Given the description of an element on the screen output the (x, y) to click on. 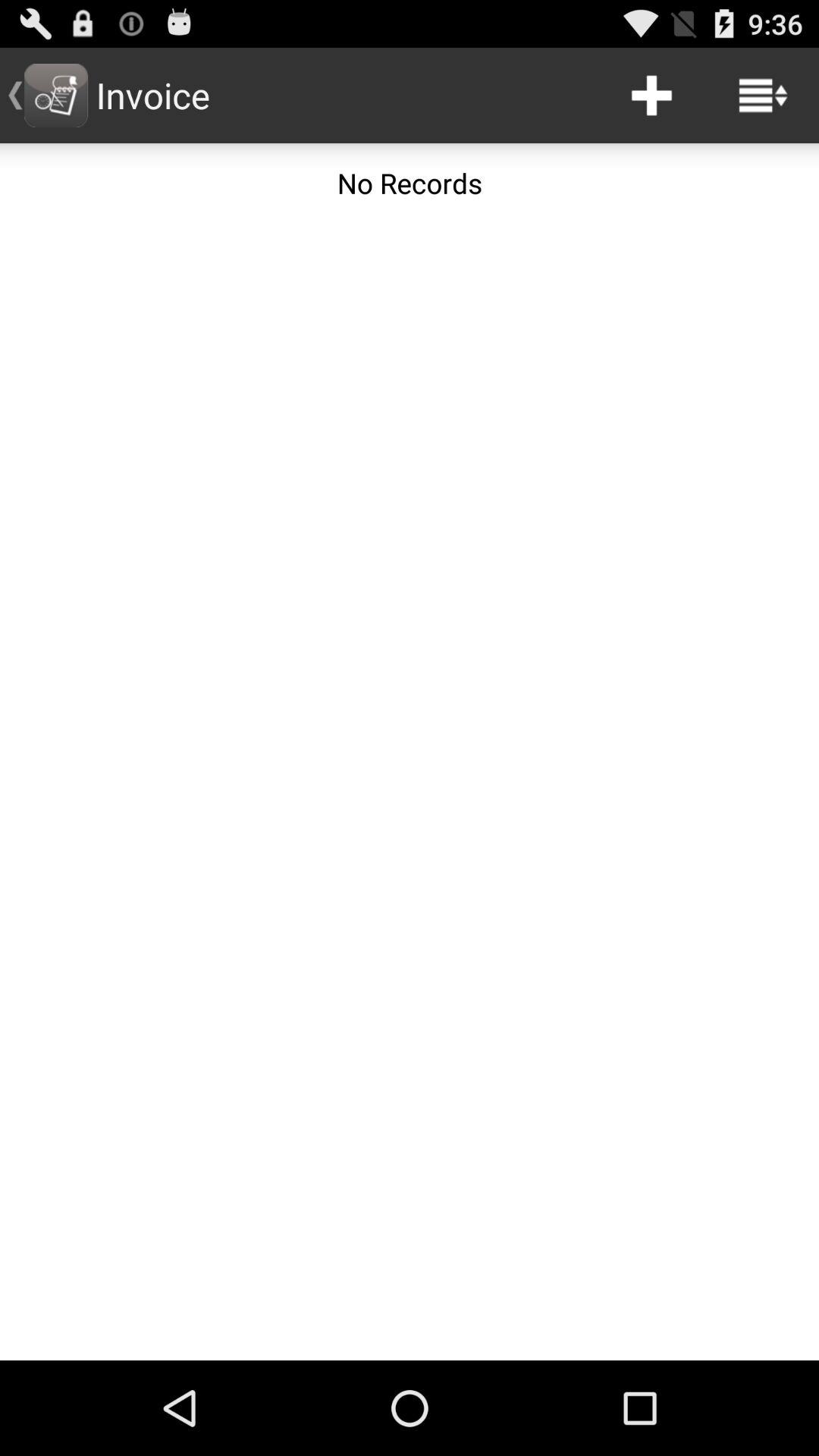
turn off icon above the no records icon (763, 95)
